Given the description of an element on the screen output the (x, y) to click on. 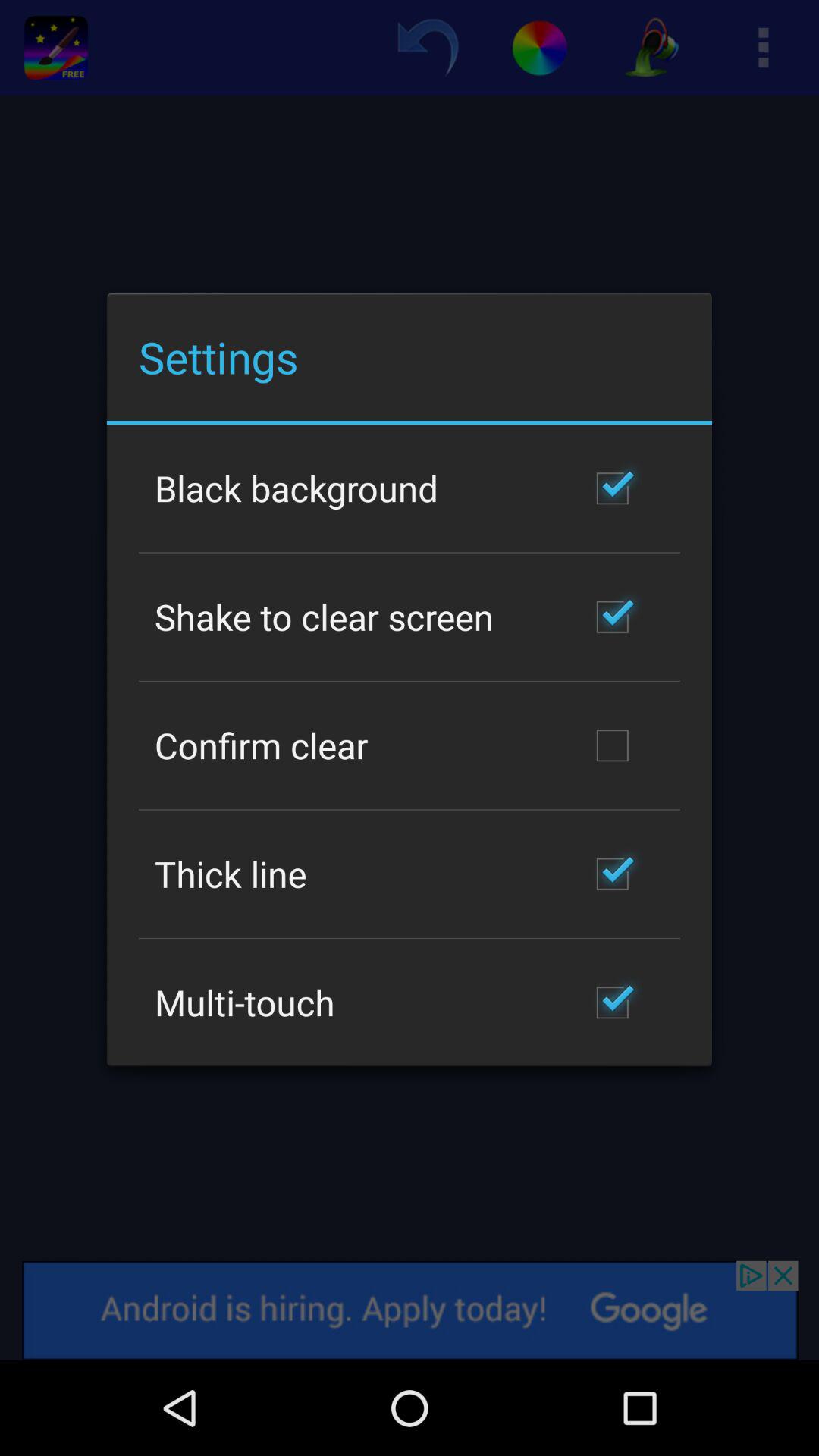
select the shake to clear (323, 616)
